Given the description of an element on the screen output the (x, y) to click on. 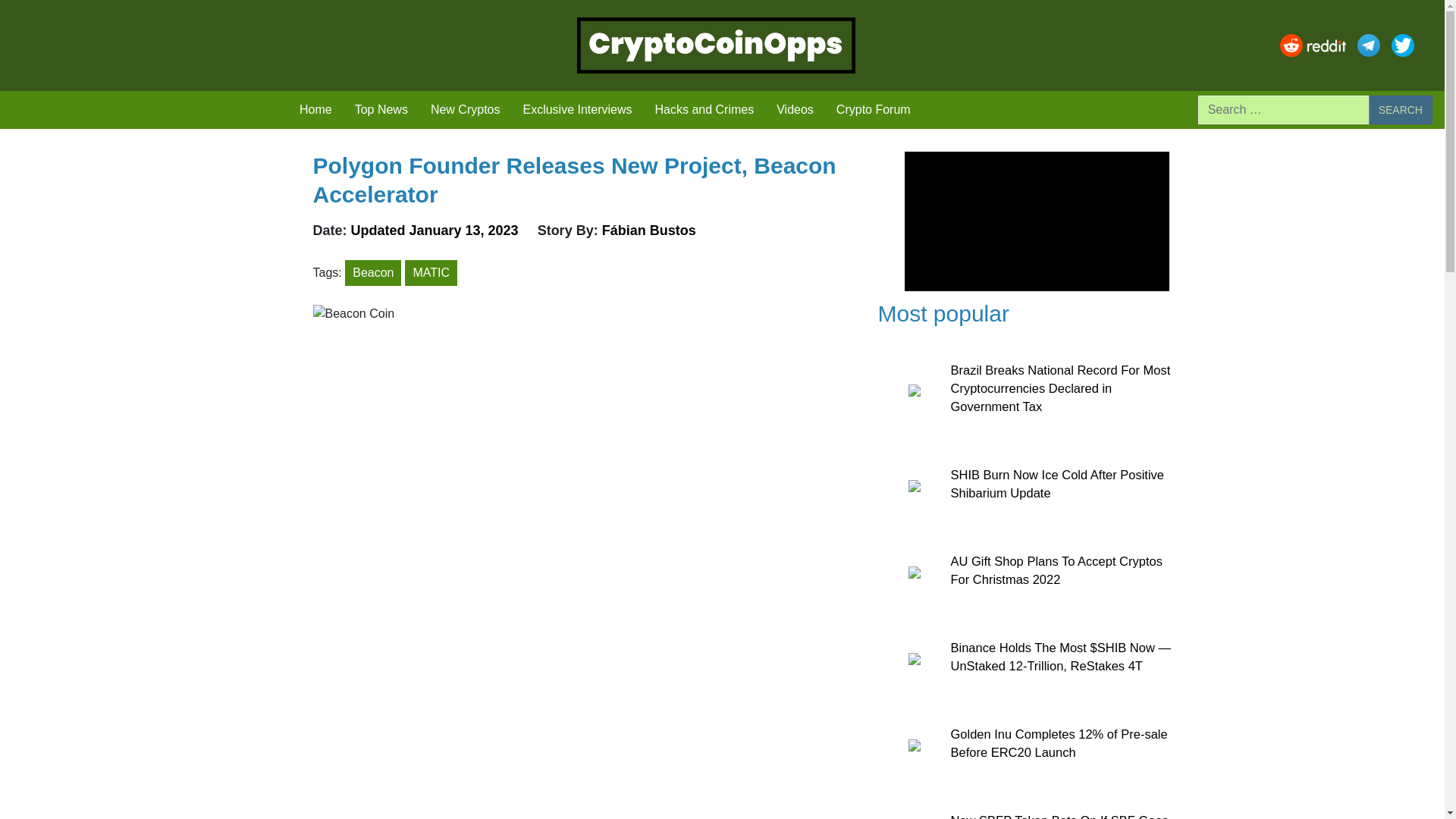
Search (1400, 109)
New SBFP Token Bets On If SBF Goes To Prison (1059, 816)
Exclusive Interviews (577, 110)
Crypto Forum (873, 110)
AU Gift Shop Plans To Accept Cryptos For Christmas 2022 (1055, 570)
Updated January 13, 2023 (436, 230)
Videos (795, 110)
Search (1400, 109)
Top News (381, 110)
Home (315, 110)
SHIB Burn Now Ice Cold After Positive Shibarium Update (1057, 483)
Hacks and Crimes (704, 110)
New Cryptos (465, 110)
